Given the description of an element on the screen output the (x, y) to click on. 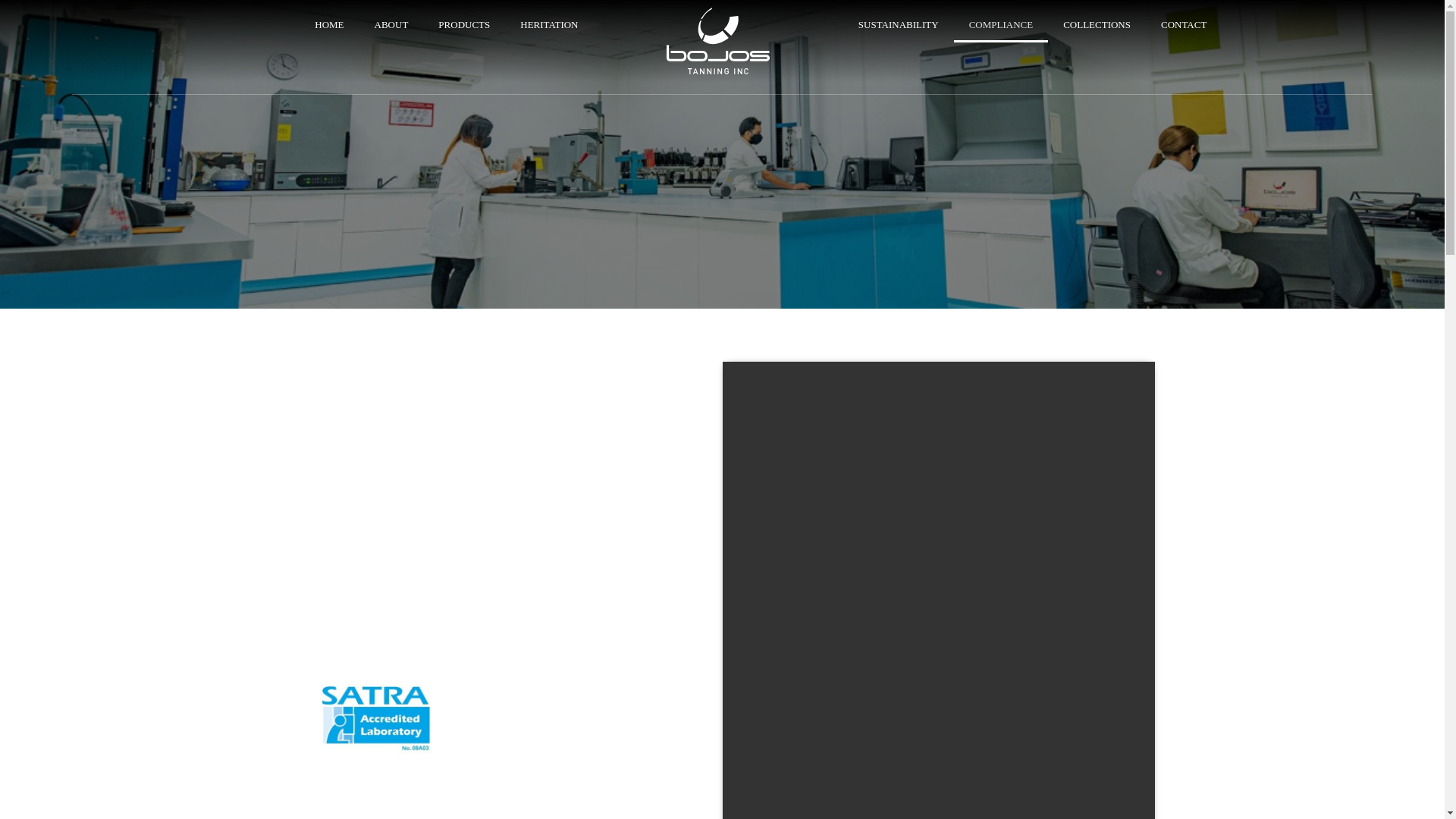
SUSTAINABILITY (898, 24)
HOME (328, 24)
COLLECTIONS (1096, 24)
PRODUCTS (464, 24)
COMPLIANCE (1000, 24)
HERITATION (548, 24)
ABOUT (391, 24)
CONTACT (1183, 24)
